Given the description of an element on the screen output the (x, y) to click on. 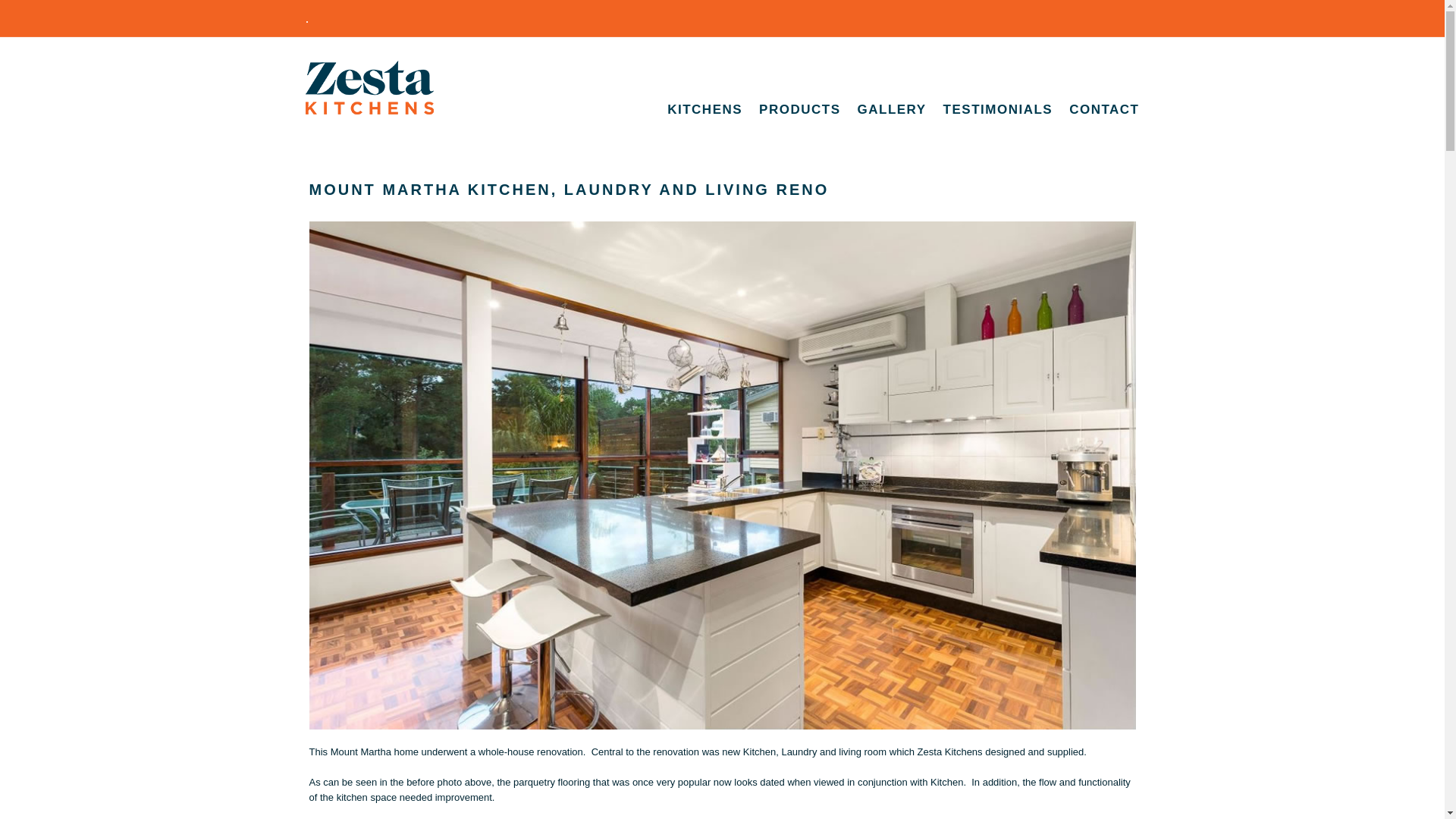
TESTIMONIALS (997, 87)
